Given the description of an element on the screen output the (x, y) to click on. 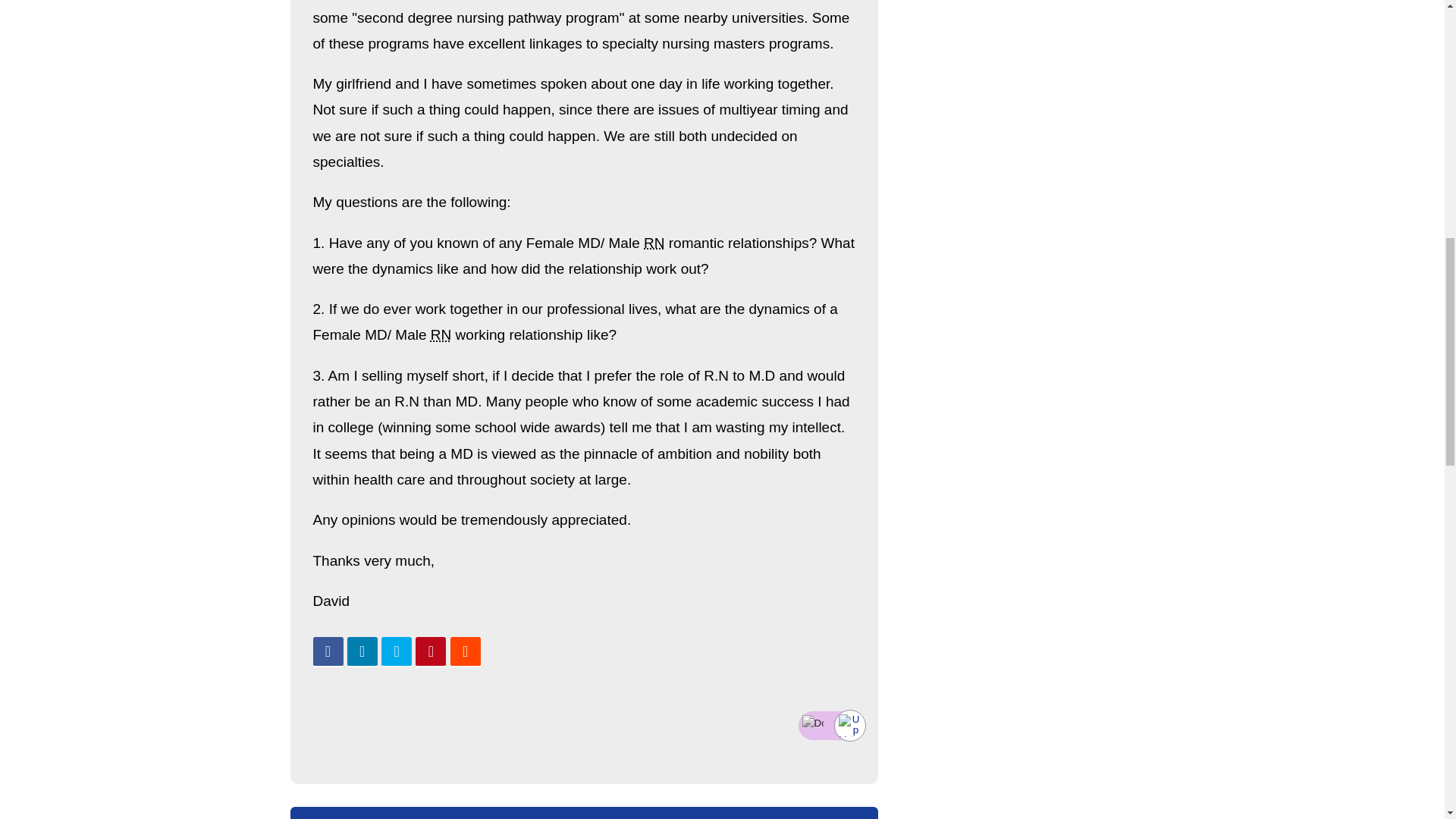
Down Vote (813, 723)
Share on Facebook (327, 652)
Up Vote (849, 725)
Share on Twitter (396, 652)
Share on Pinterest (429, 652)
Share on LinkedIn (362, 652)
Registered Nurse (440, 334)
Share on Reddit (464, 652)
Registered Nurse (653, 242)
